Given the description of an element on the screen output the (x, y) to click on. 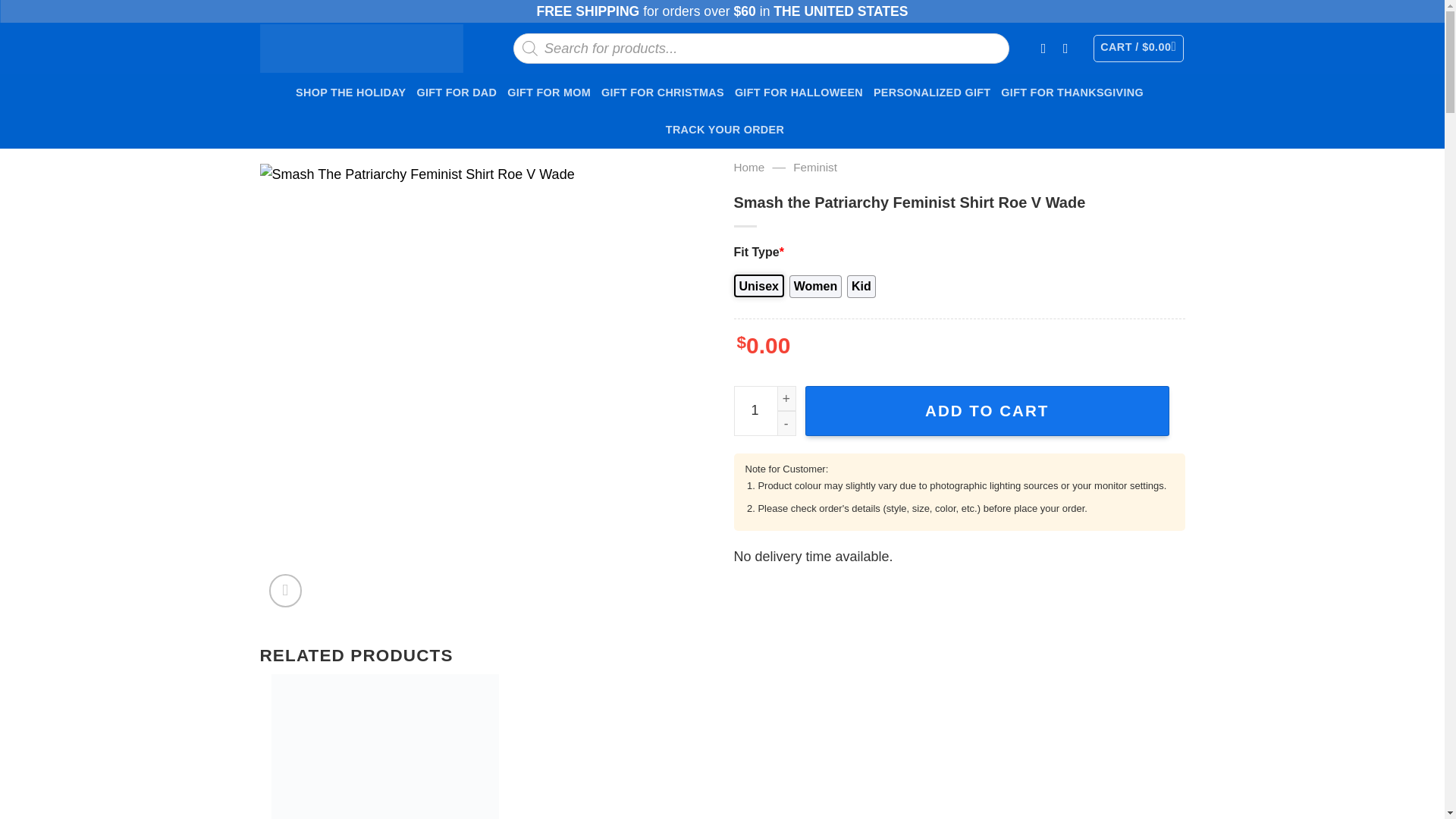
Drama Shirt - all the designs you need in one place (361, 48)
Women (815, 286)
Kid (861, 286)
Feminist (815, 166)
SHOP THE HOLIDAY (350, 92)
GIFT FOR THANKSGIVING (1071, 92)
1 (764, 410)
GIFT FOR MOM (548, 92)
Zoom (285, 590)
GIFT FOR HALLOWEEN (799, 92)
TRACK YOUR ORDER (724, 129)
PERSONALIZED GIFT (931, 92)
GIFT FOR CHRISTMAS (662, 92)
Cart (1138, 48)
